Given the description of an element on the screen output the (x, y) to click on. 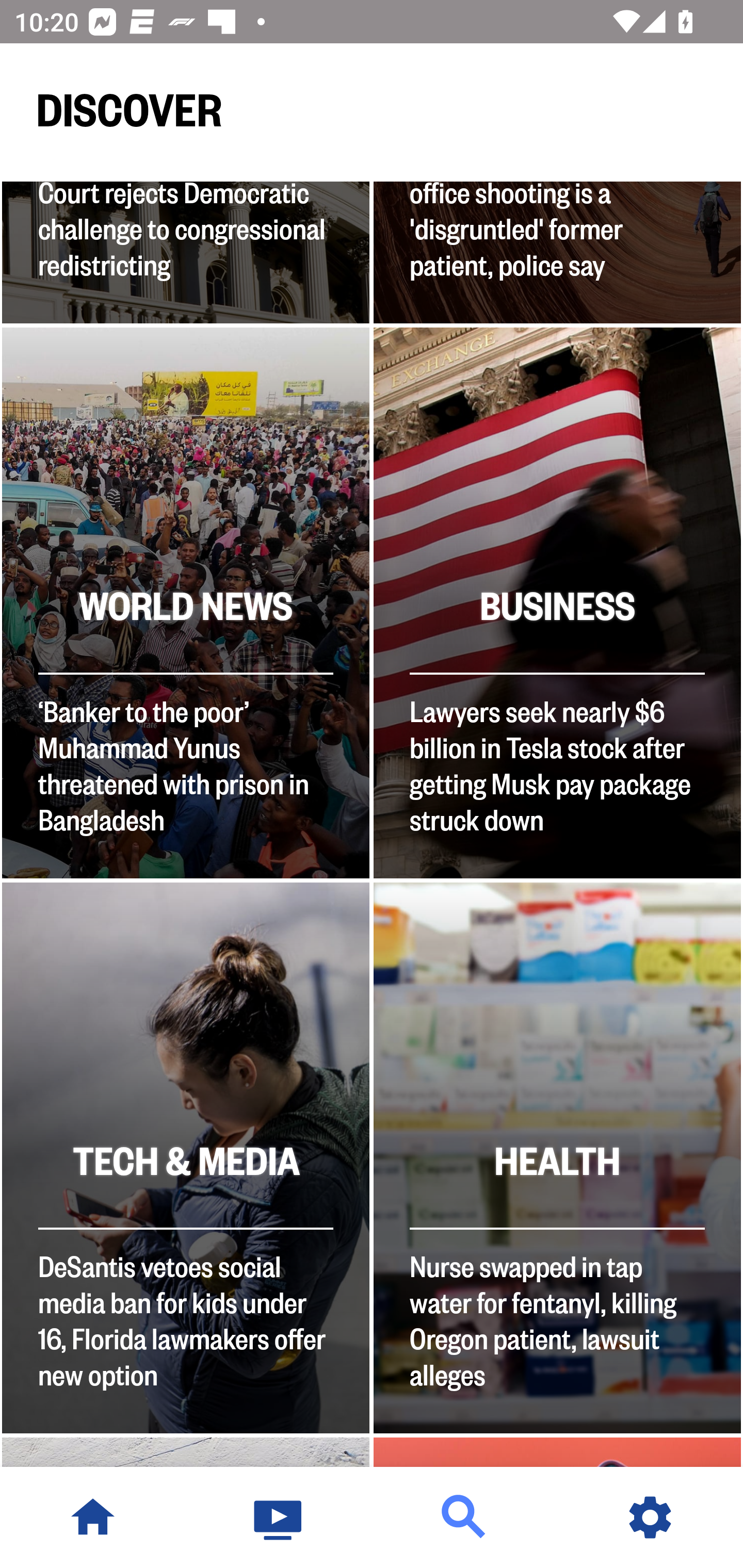
NBC News Home (92, 1517)
Watch (278, 1517)
Settings (650, 1517)
